Given the description of an element on the screen output the (x, y) to click on. 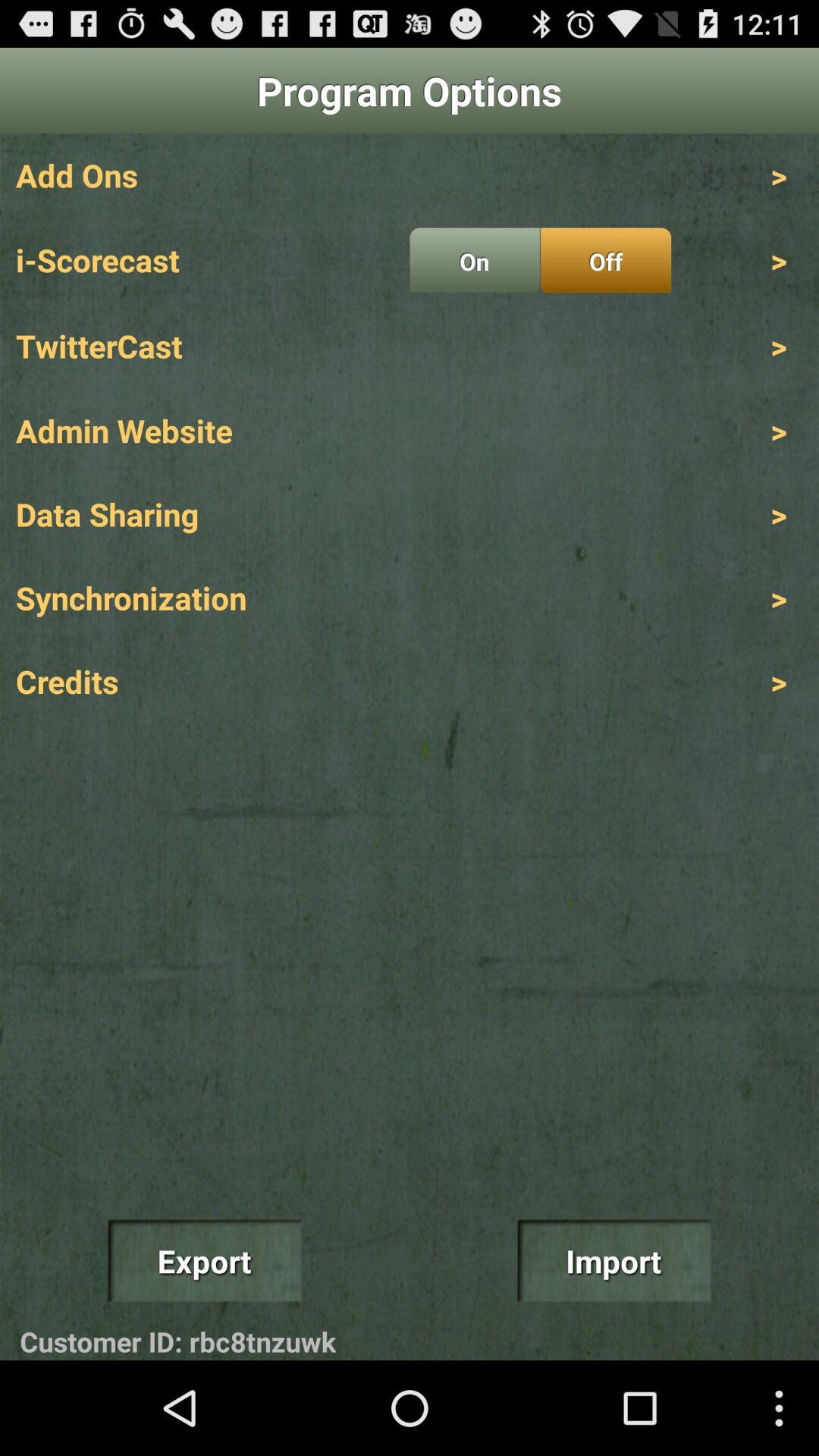
press the app above >   app (605, 259)
